Given the description of an element on the screen output the (x, y) to click on. 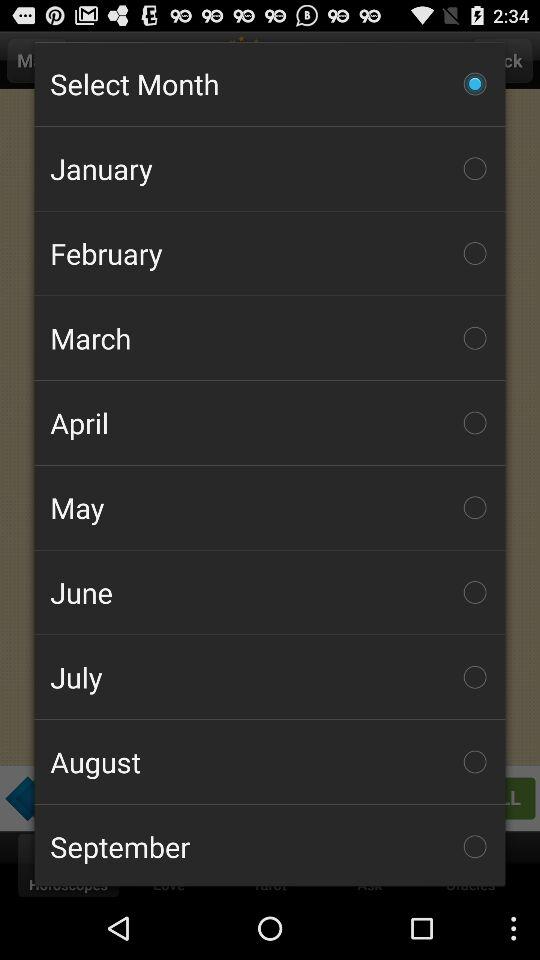
turn off select month icon (269, 83)
